Given the description of an element on the screen output the (x, y) to click on. 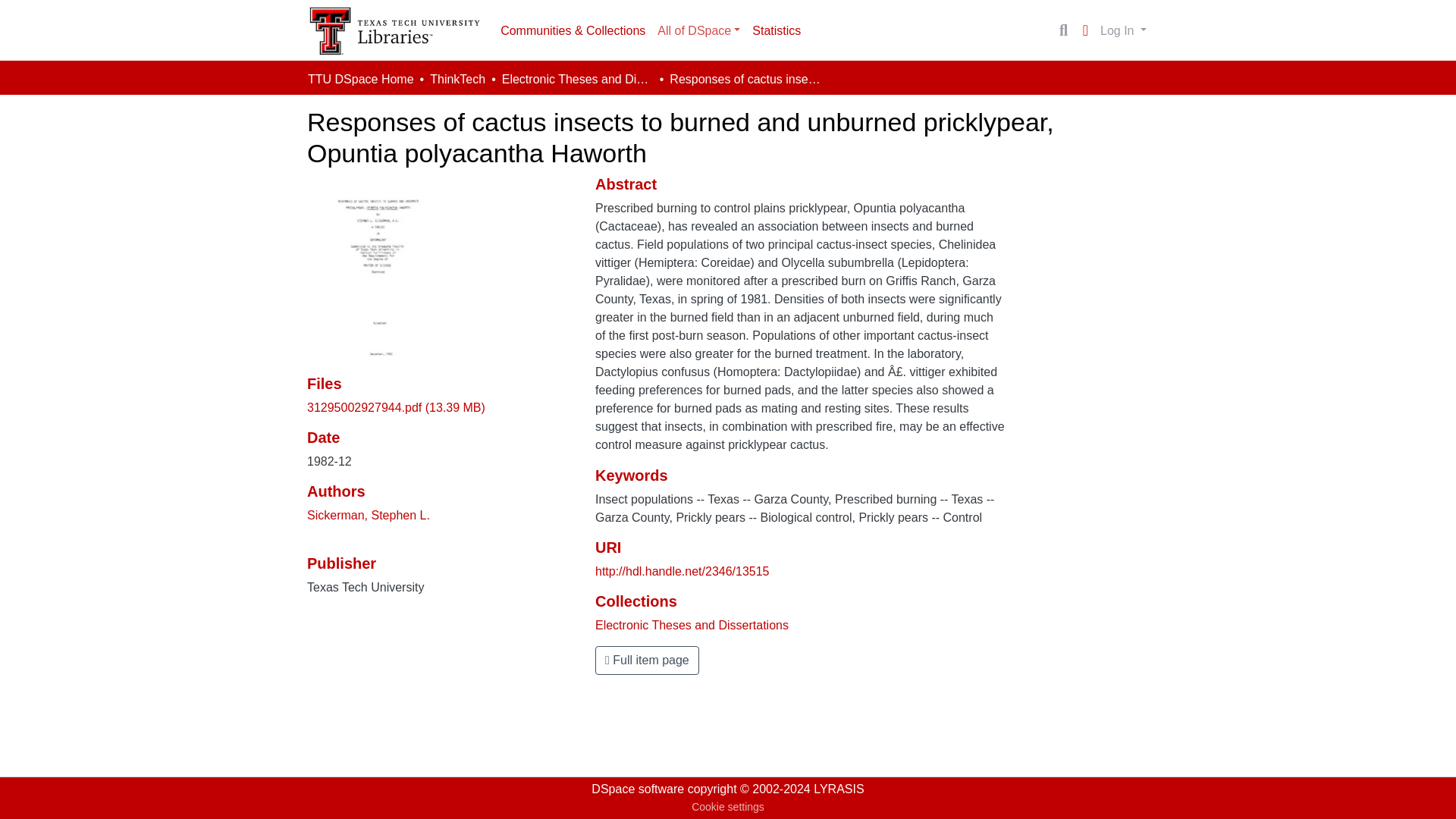
Search (1063, 30)
Statistics (775, 30)
Statistics (775, 30)
Sickerman, Stephen L. (368, 514)
DSpace software (637, 788)
Cookie settings (727, 806)
Electronic Theses and Dissertations (577, 79)
TTU DSpace Home (360, 79)
All of DSpace (697, 30)
LYRASIS (838, 788)
